Given the description of an element on the screen output the (x, y) to click on. 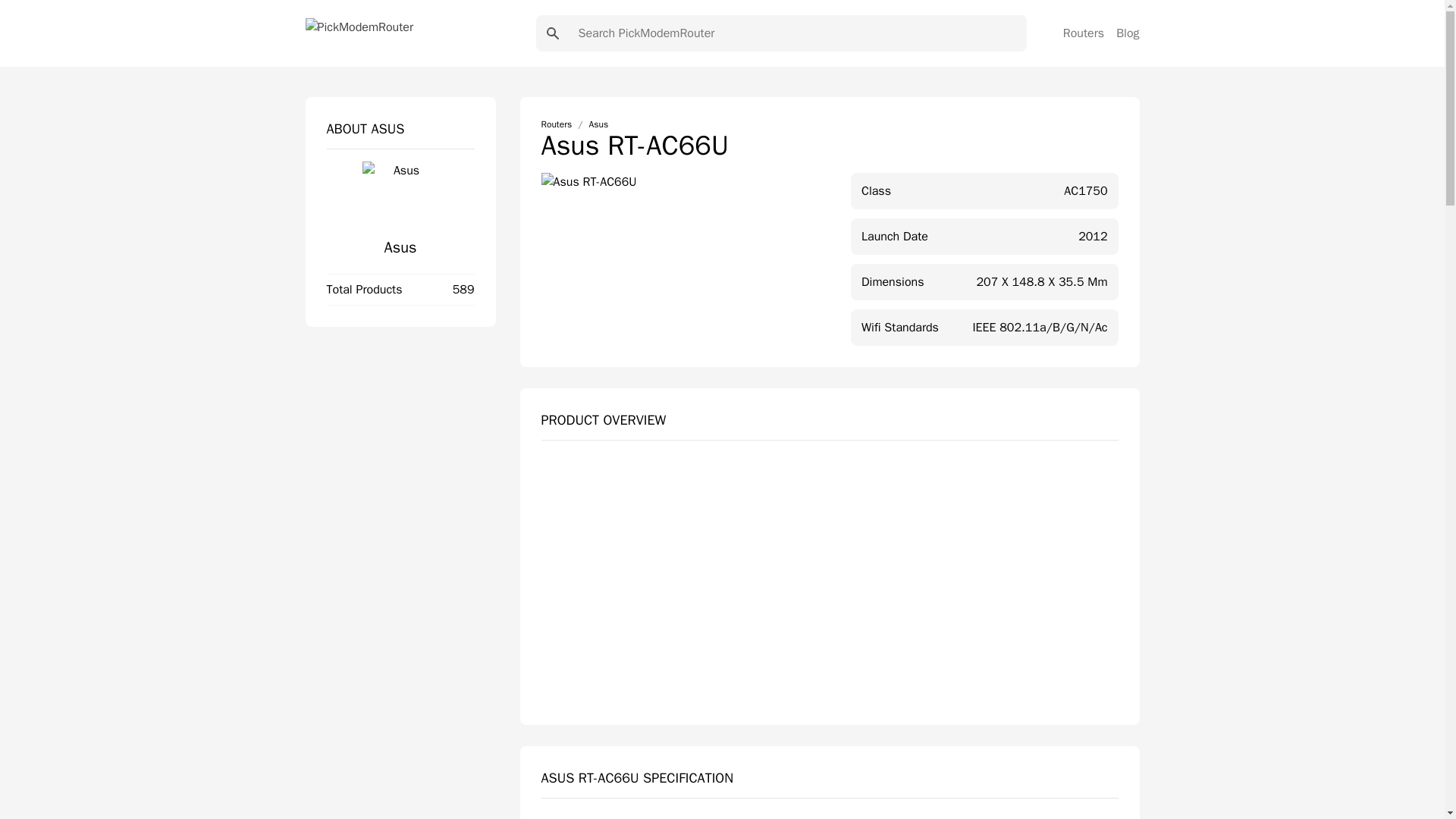
Asus (400, 247)
Blog (1127, 33)
Routers (556, 123)
Asus RT-AC66U (829, 584)
Search Submit  (552, 33)
Routers (1082, 33)
Asus (598, 123)
